Given the description of an element on the screen output the (x, y) to click on. 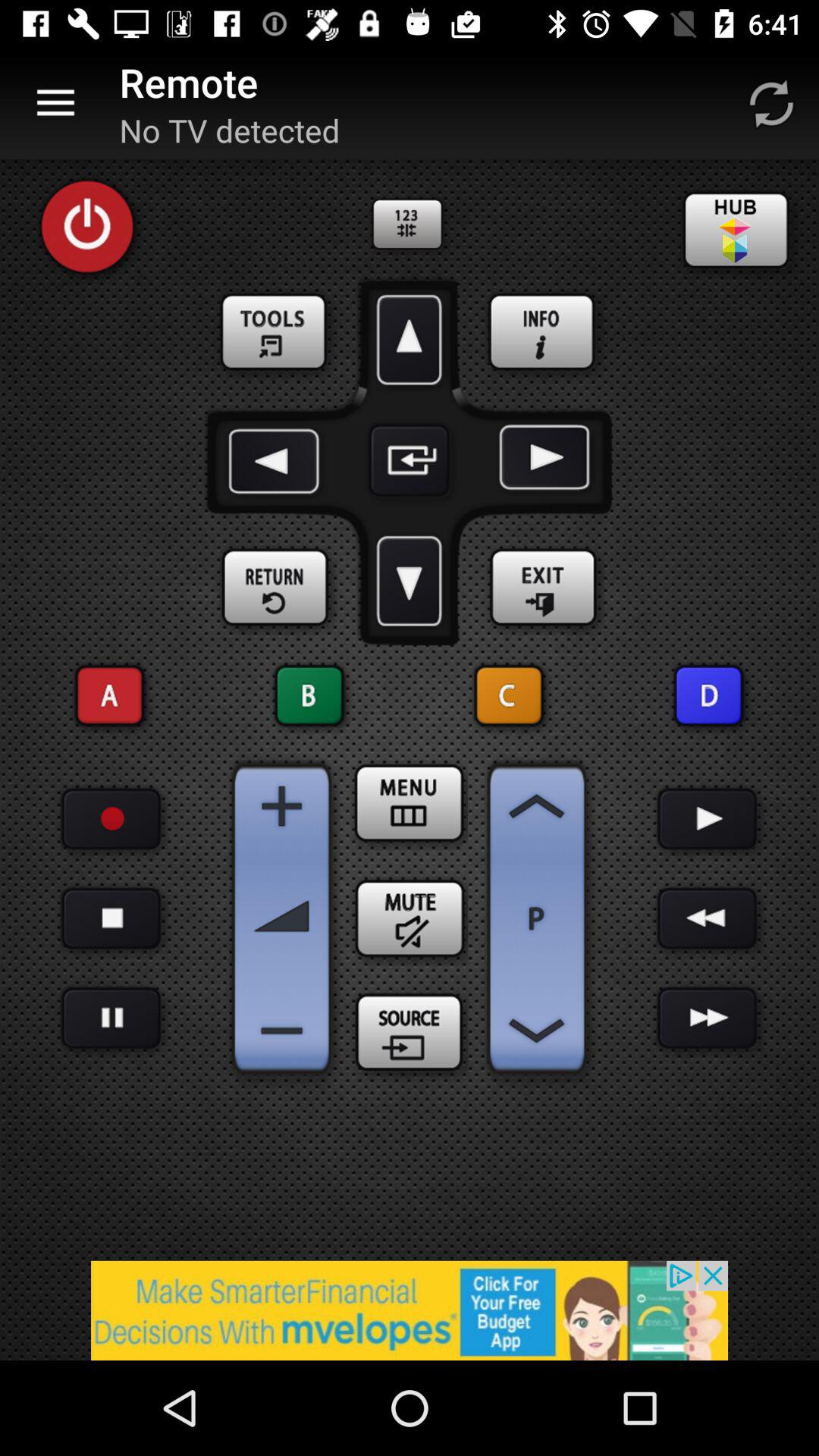
go to next (707, 1018)
